Given the description of an element on the screen output the (x, y) to click on. 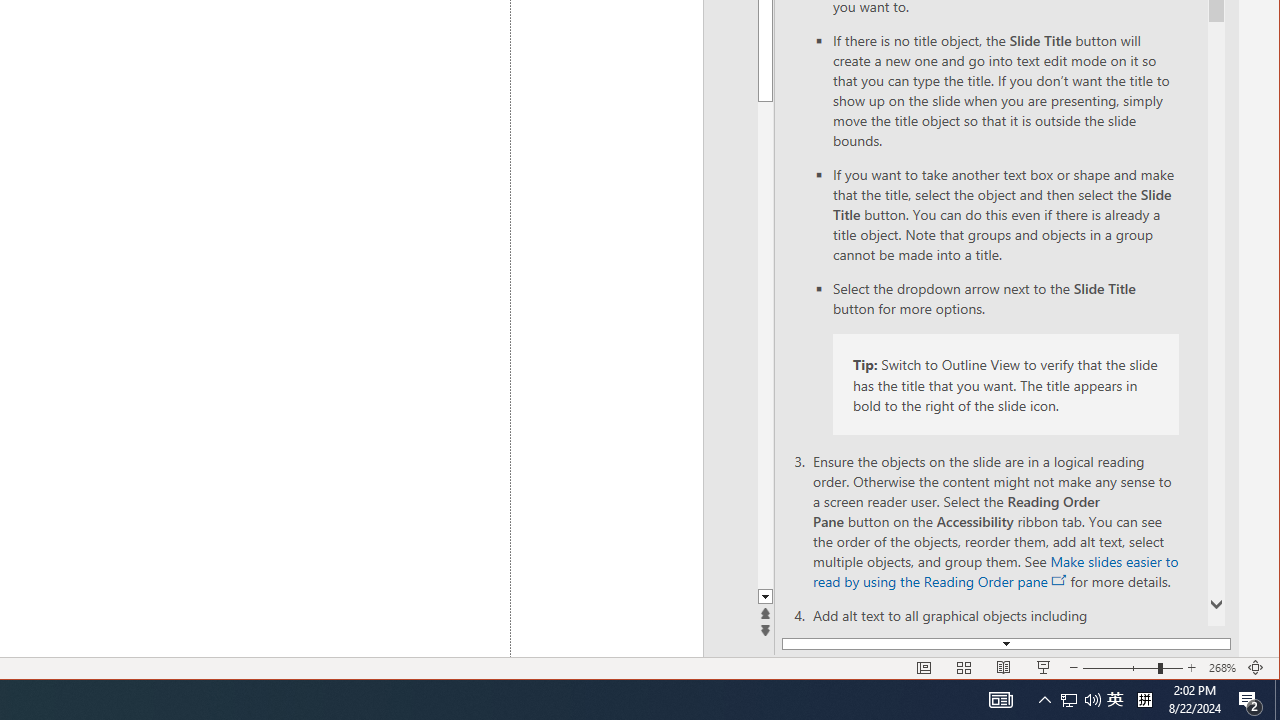
openinnewwindow (1059, 580)
